Given the description of an element on the screen output the (x, y) to click on. 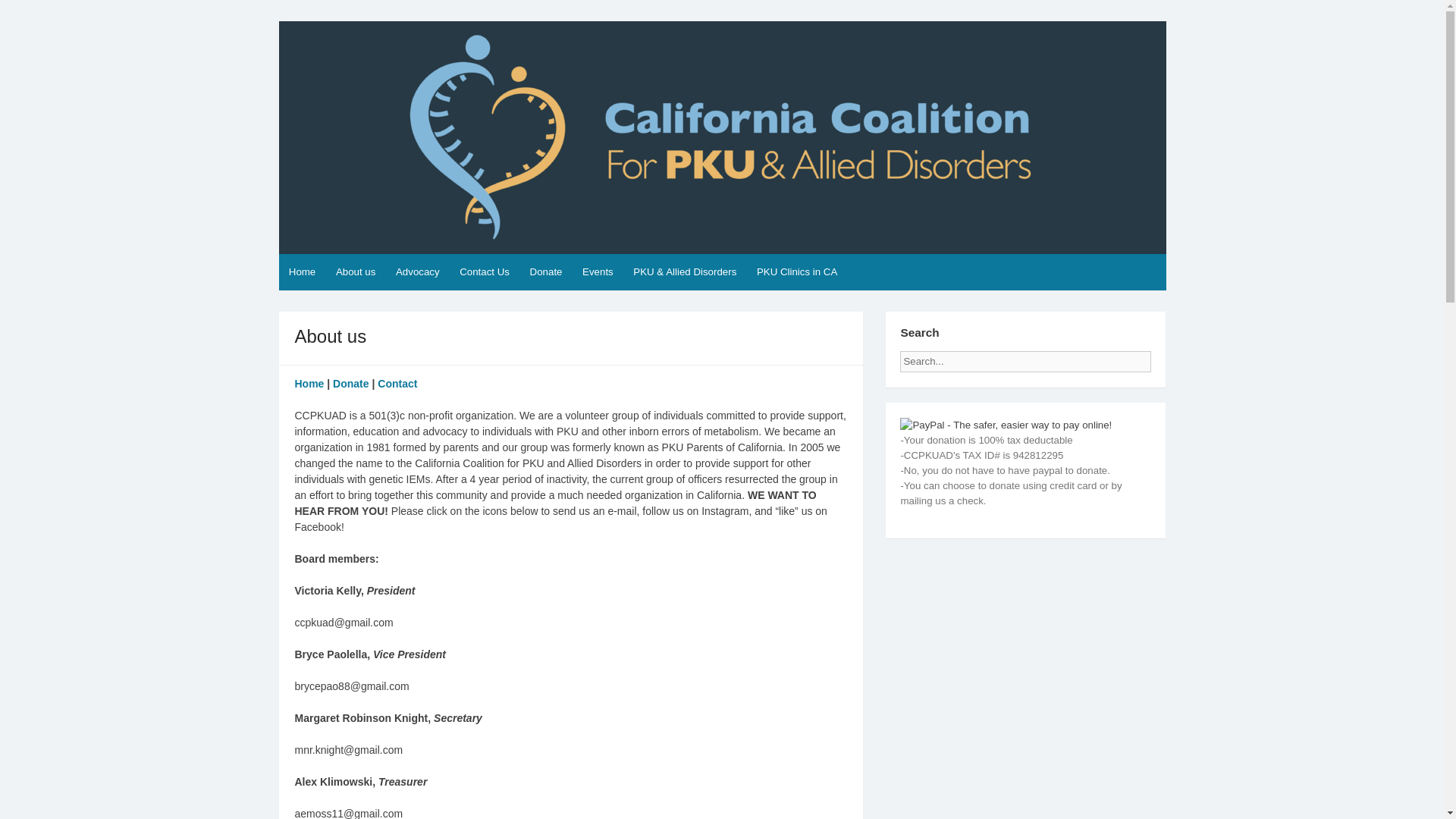
Search (1163, 356)
Advocacy (417, 271)
Home (308, 383)
Contact (396, 383)
Home (302, 271)
Search (1163, 356)
Search (1163, 356)
Events (597, 271)
PKU Clinics in CA (796, 271)
CCPKUAD (332, 33)
